Given the description of an element on the screen output the (x, y) to click on. 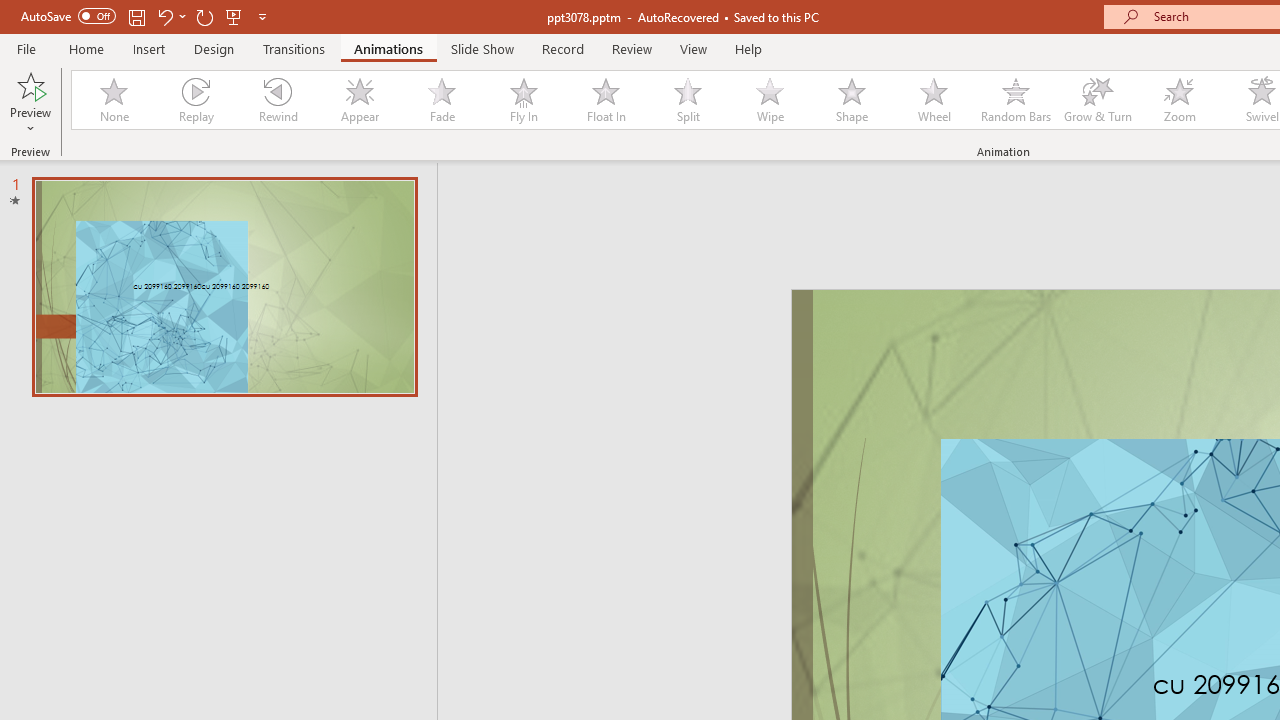
Shape (852, 100)
Fade (441, 100)
Fly In (523, 100)
Replay (195, 100)
Wheel (934, 100)
